Given the description of an element on the screen output the (x, y) to click on. 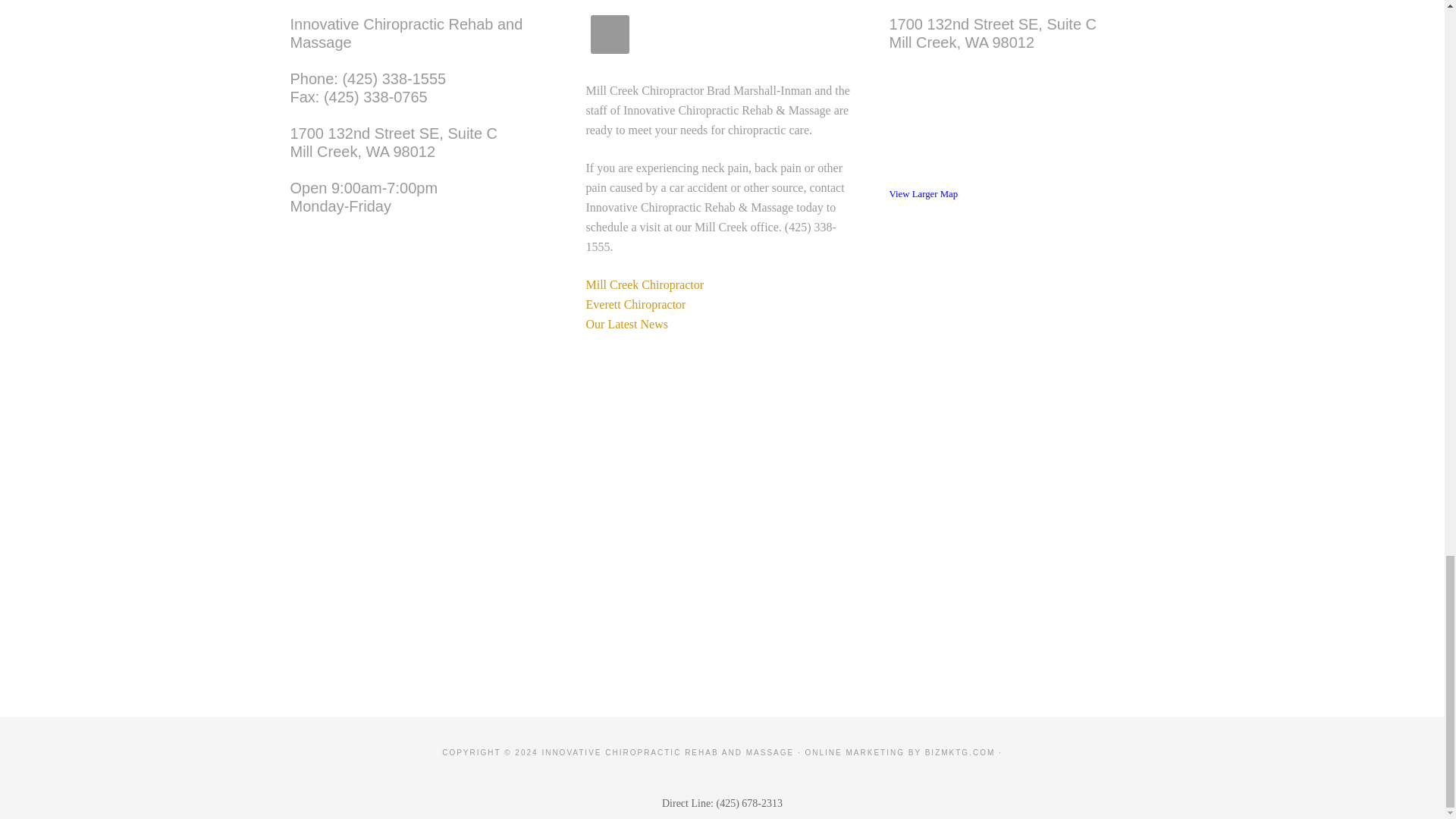
Everett Chiropractor (635, 304)
View Larger Map (992, 32)
Our Latest News (923, 194)
ONLINE MARKETING BY BIZMKTG.COM (625, 323)
Mill Creek Chiropractor (393, 142)
